Given the description of an element on the screen output the (x, y) to click on. 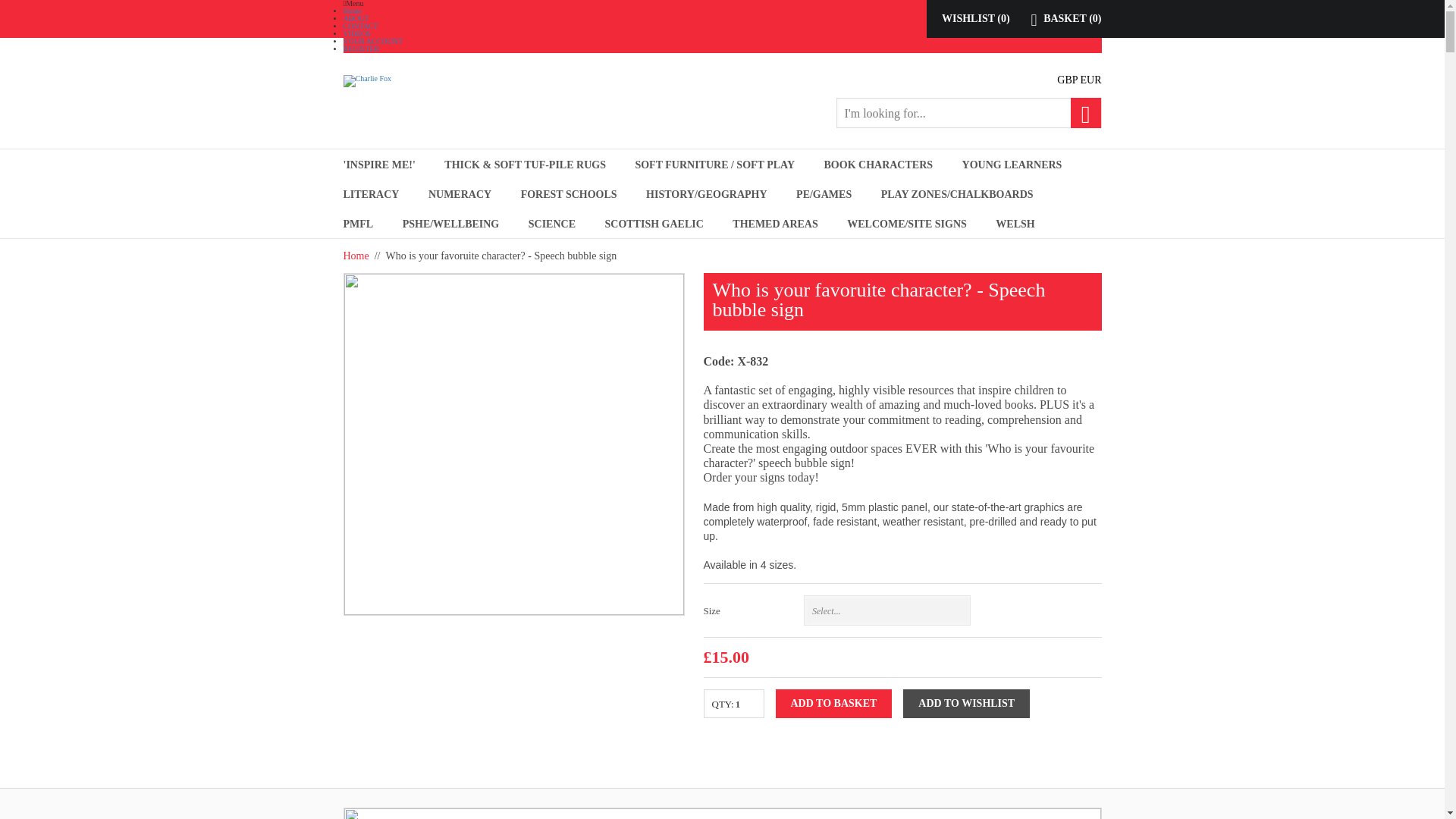
ABOUT (355, 18)
Home (351, 10)
1 (745, 704)
YOUNG LEARNERS (1012, 164)
EUR (1090, 79)
VIDEOS (356, 33)
REGISTER (360, 49)
YOUR ACCOUNT (372, 40)
BOOK CHARACTERS (878, 164)
CONTACT (359, 26)
GBP (1067, 79)
'INSPIRE ME!' (378, 164)
